Given the description of an element on the screen output the (x, y) to click on. 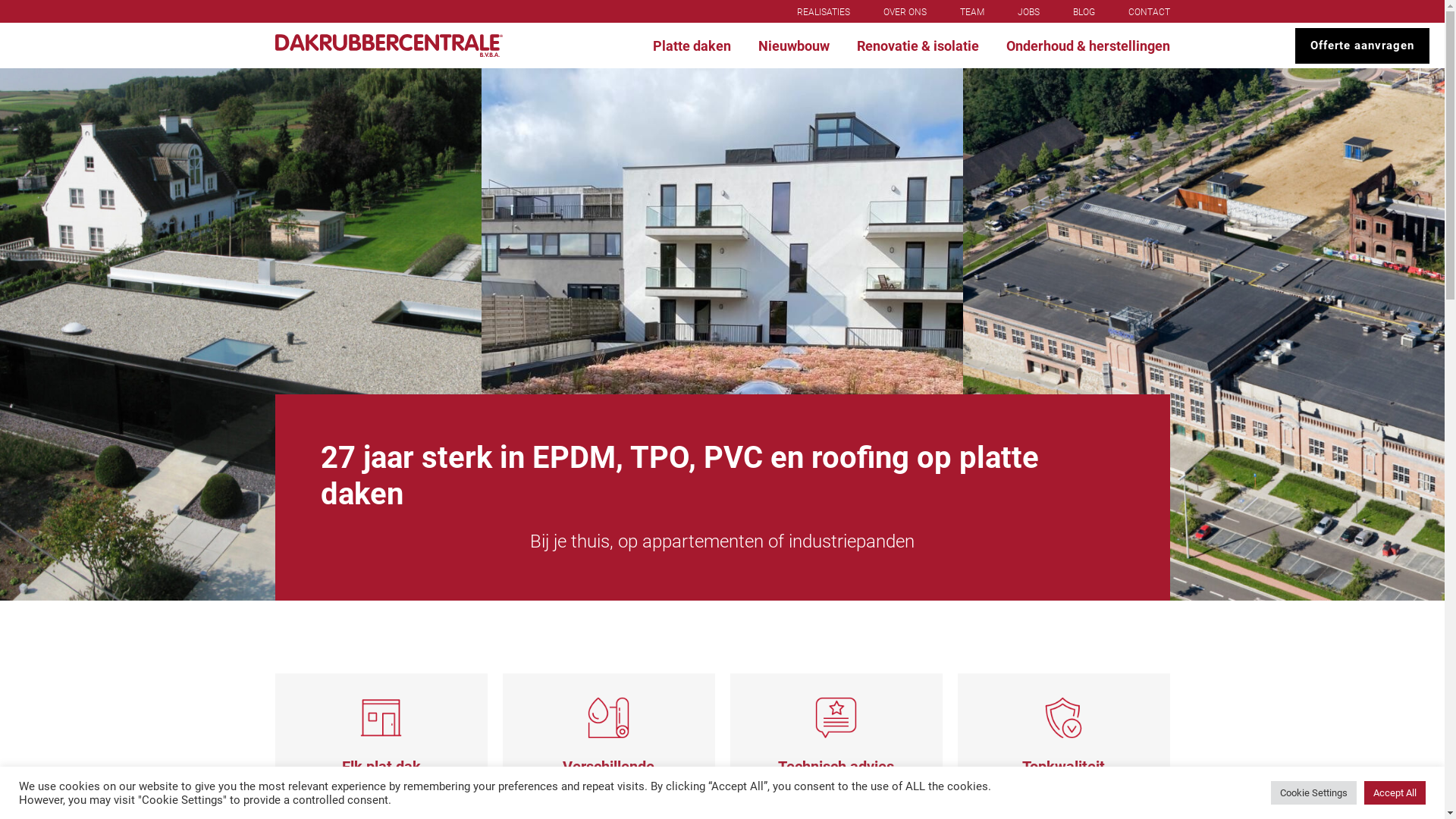
REALISATIES Element type: text (822, 11)
TEAM Element type: text (972, 11)
OVER ONS Element type: text (903, 11)
Nieuwbouw Element type: text (793, 45)
EPDM ballast - Bertem Element type: hover (240, 334)
Platte daken Element type: text (690, 45)
Offerte aanvragen Element type: text (1362, 45)
BLOG Element type: text (1083, 11)
Bij je thuis, op appartementen of industriepanden Element type: text (722, 541)
Onderhoud & herstellingen Element type: text (1085, 45)
Roofing-groendak-THYS-Prins-Leopold-11-e1653934632856 Element type: hover (722, 334)
Renovatie & isolatie Element type: text (917, 45)
JOBS Element type: text (1028, 11)
CONTACT Element type: text (1149, 11)
euroscoop_03 Element type: hover (1203, 334)
Accept All Element type: text (1394, 792)
Cookie Settings Element type: text (1313, 792)
